Given the description of an element on the screen output the (x, y) to click on. 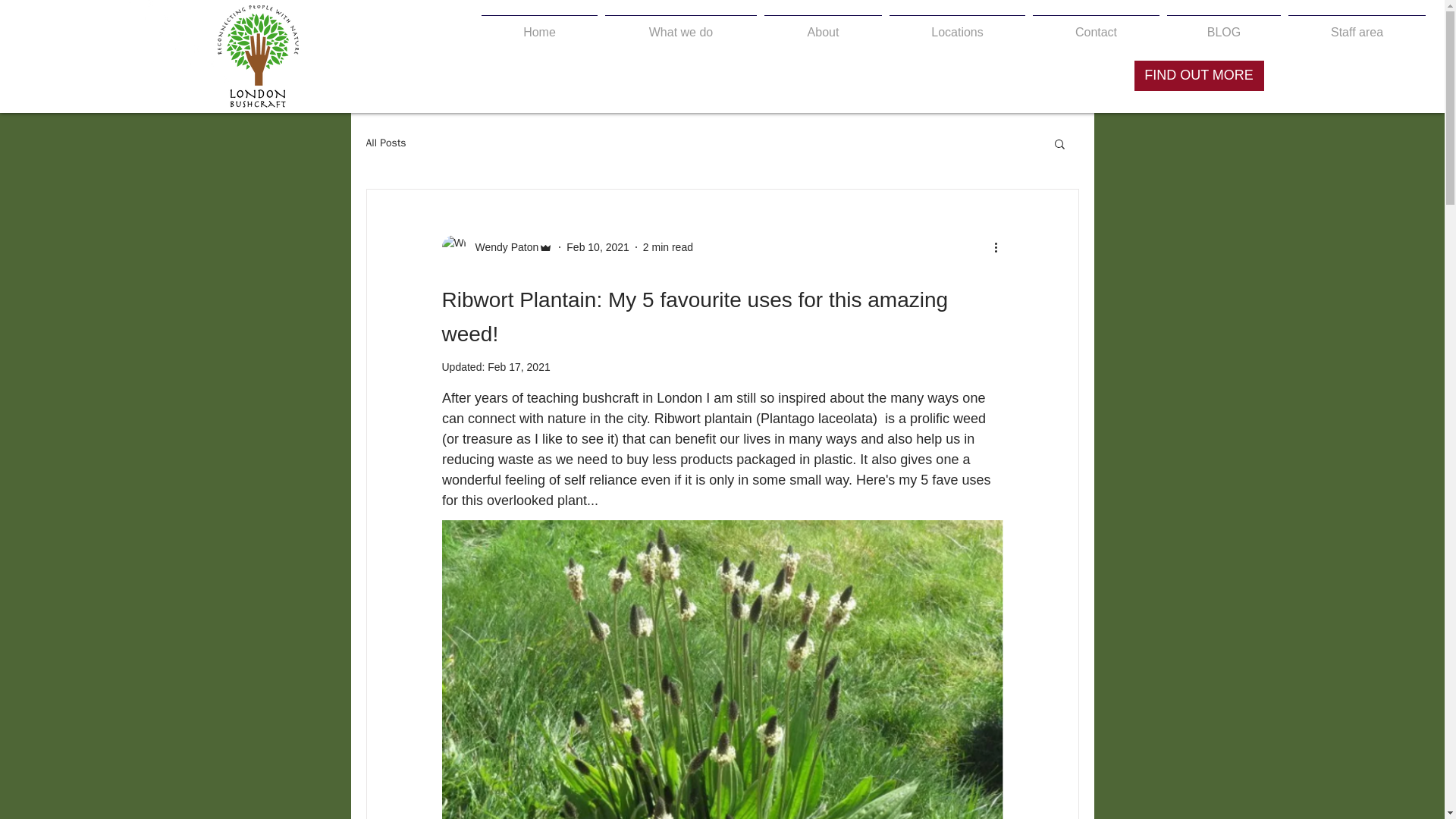
FIND OUT MORE (1198, 75)
Contact (1096, 25)
2 min read (668, 246)
BLOG (1223, 25)
Locations (957, 25)
Wendy Paton (497, 247)
About (822, 25)
Staff area (1356, 25)
Home (539, 25)
Wendy Paton  (501, 247)
